Given the description of an element on the screen output the (x, y) to click on. 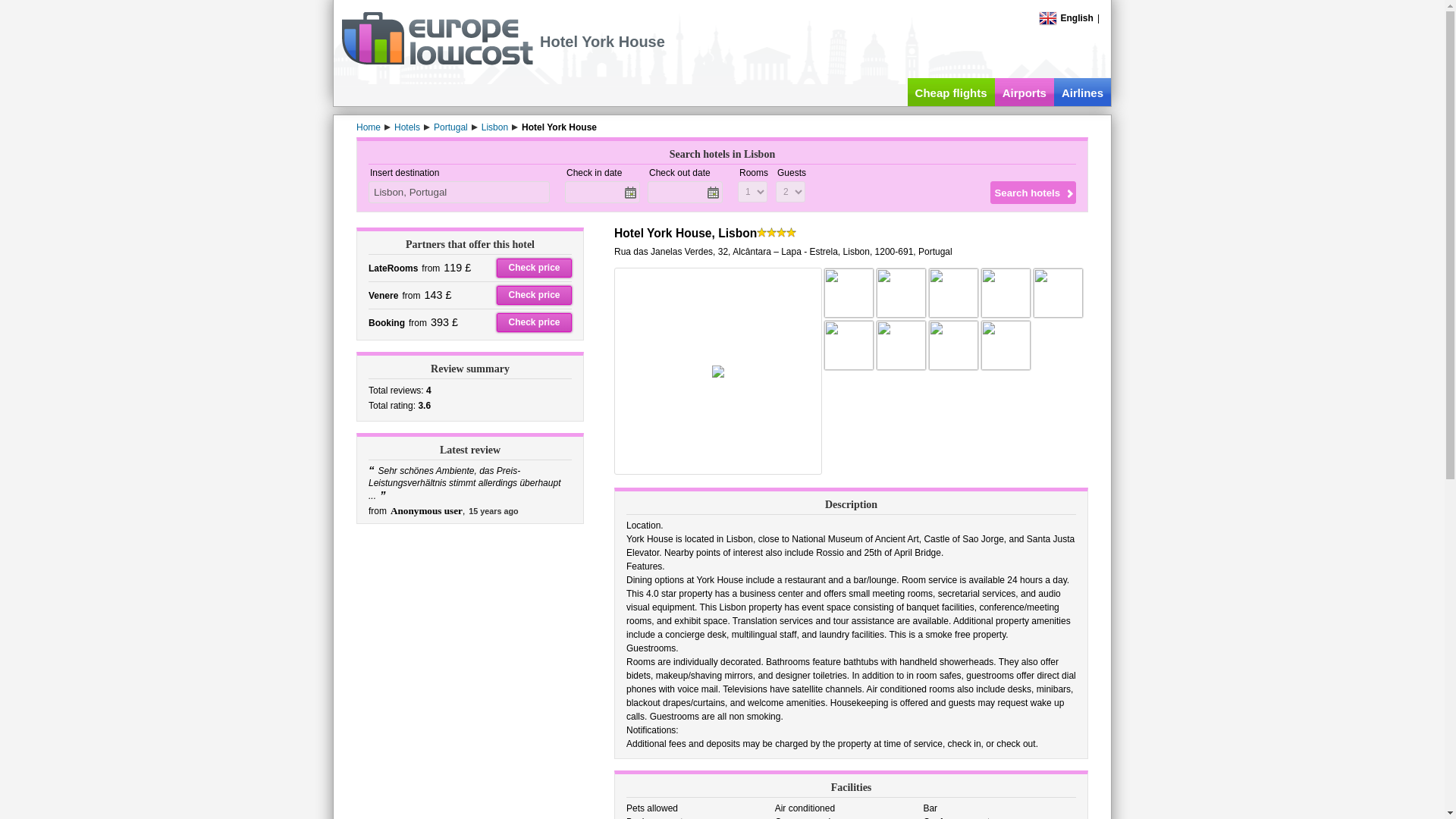
Search hotels (1033, 191)
Hotels (407, 127)
Home (368, 127)
Portugal (450, 127)
Home (368, 127)
Lisbon (494, 127)
Search hotels (1033, 191)
Airports (1024, 91)
Hotels (407, 127)
Check price (534, 294)
